Given the description of an element on the screen output the (x, y) to click on. 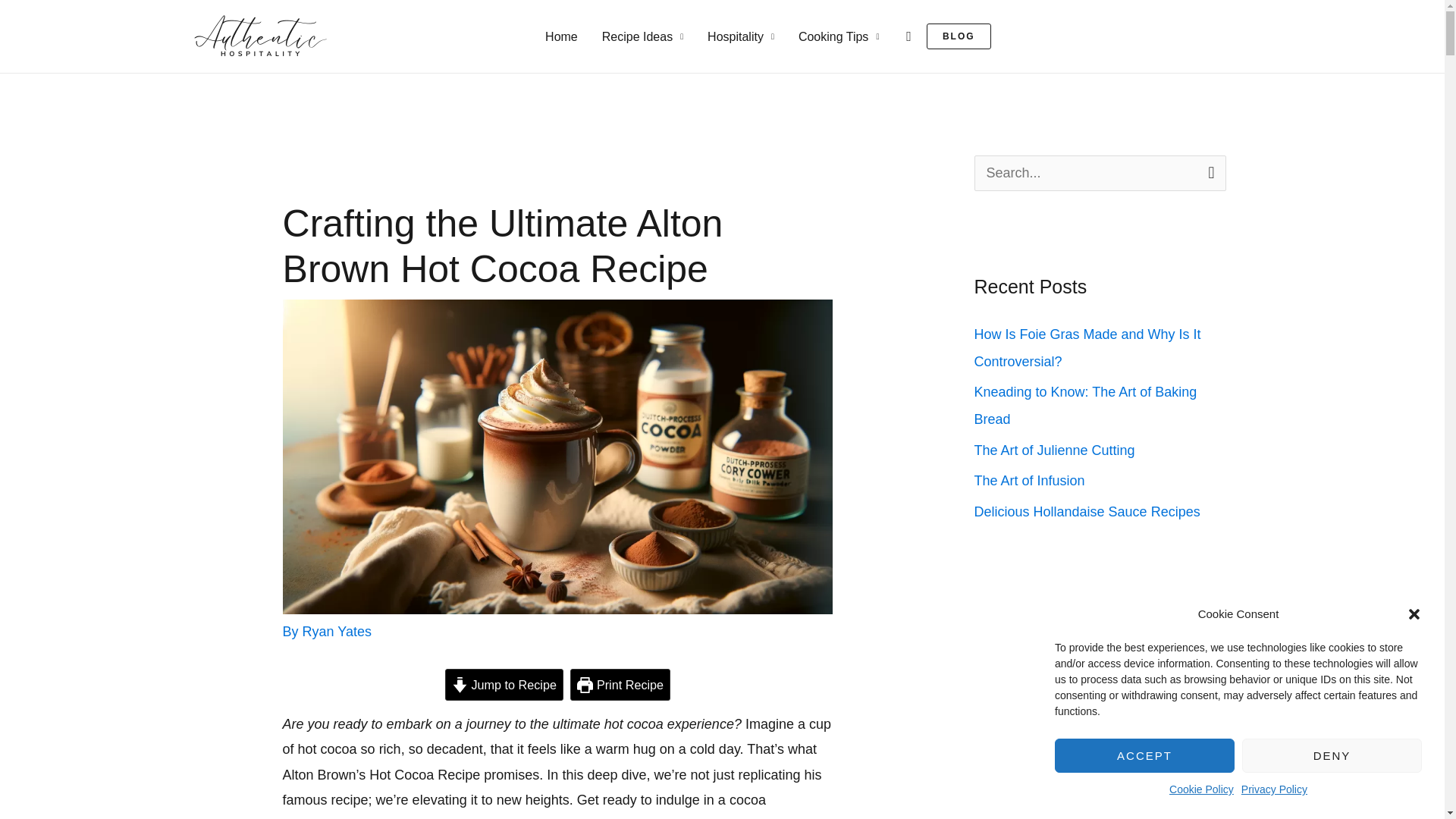
Search (1208, 172)
Search (1208, 172)
ACCEPT (1144, 755)
DENY (1331, 755)
Privacy Policy (1274, 790)
Home (560, 35)
Cookie Policy (1201, 790)
View all posts by Ryan Yates (336, 631)
Recipe Ideas (642, 35)
